Given the description of an element on the screen output the (x, y) to click on. 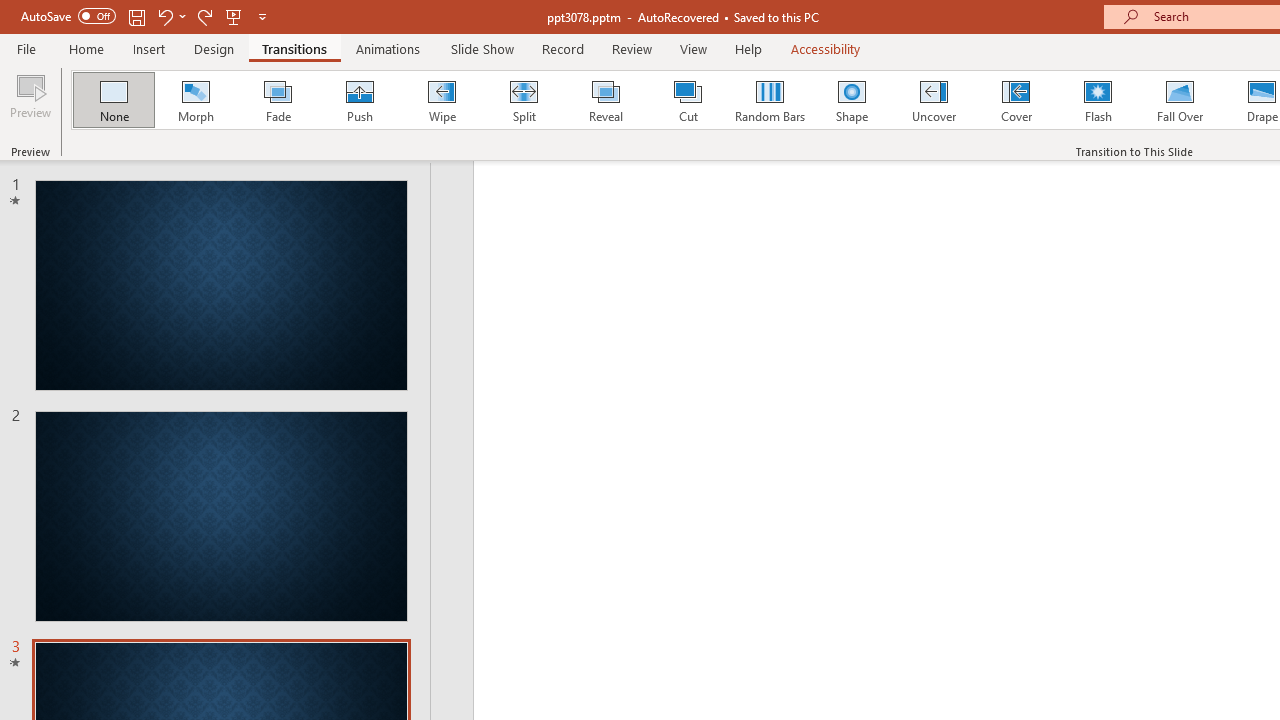
Flash (1098, 100)
Fall Over (1180, 100)
Split (523, 100)
Wipe (441, 100)
Morph (195, 100)
